Given the description of an element on the screen output the (x, y) to click on. 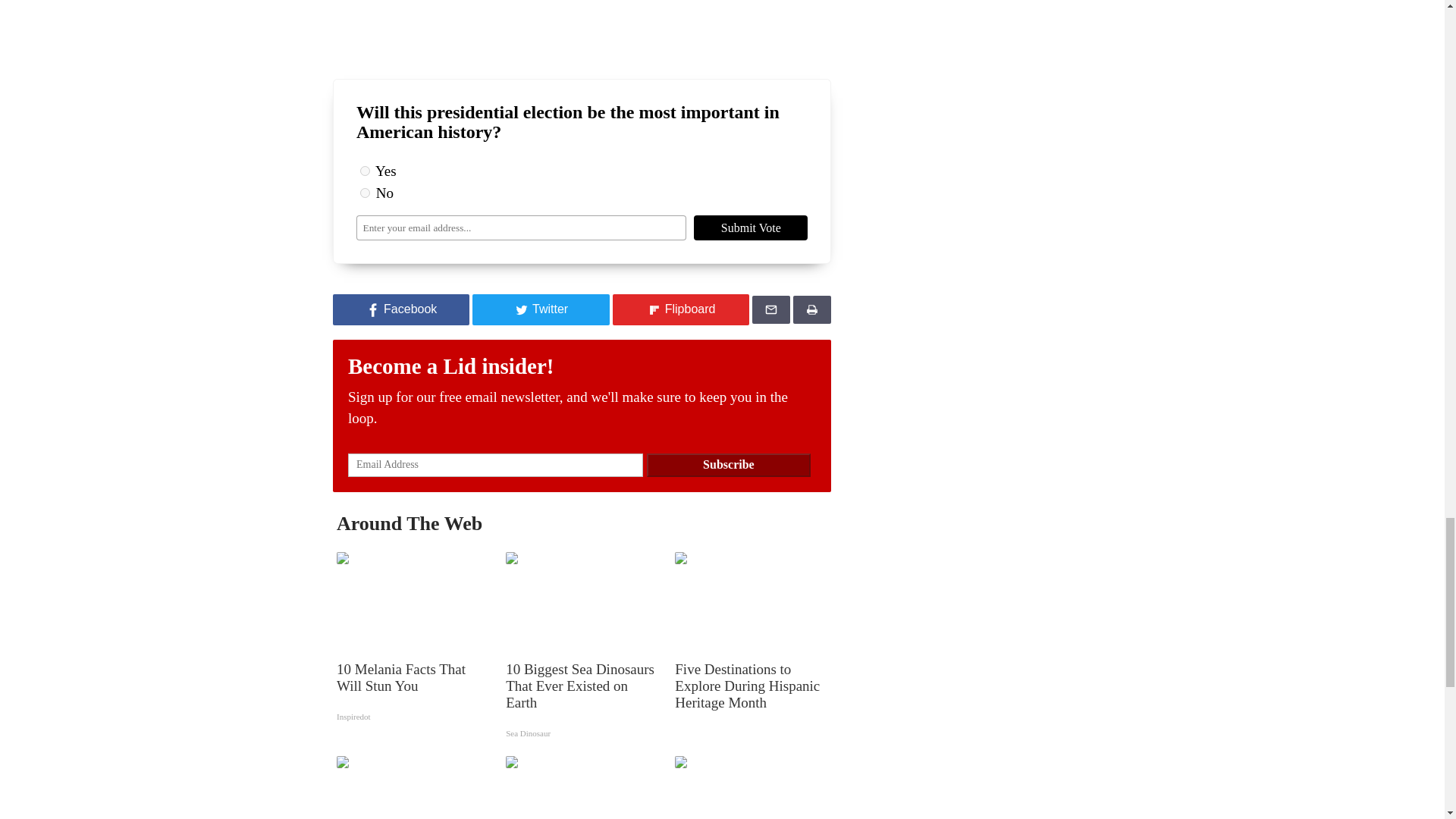
29 (364, 171)
30 (364, 193)
Whitaker Acting.ag.Op (582, 20)
